Given the description of an element on the screen output the (x, y) to click on. 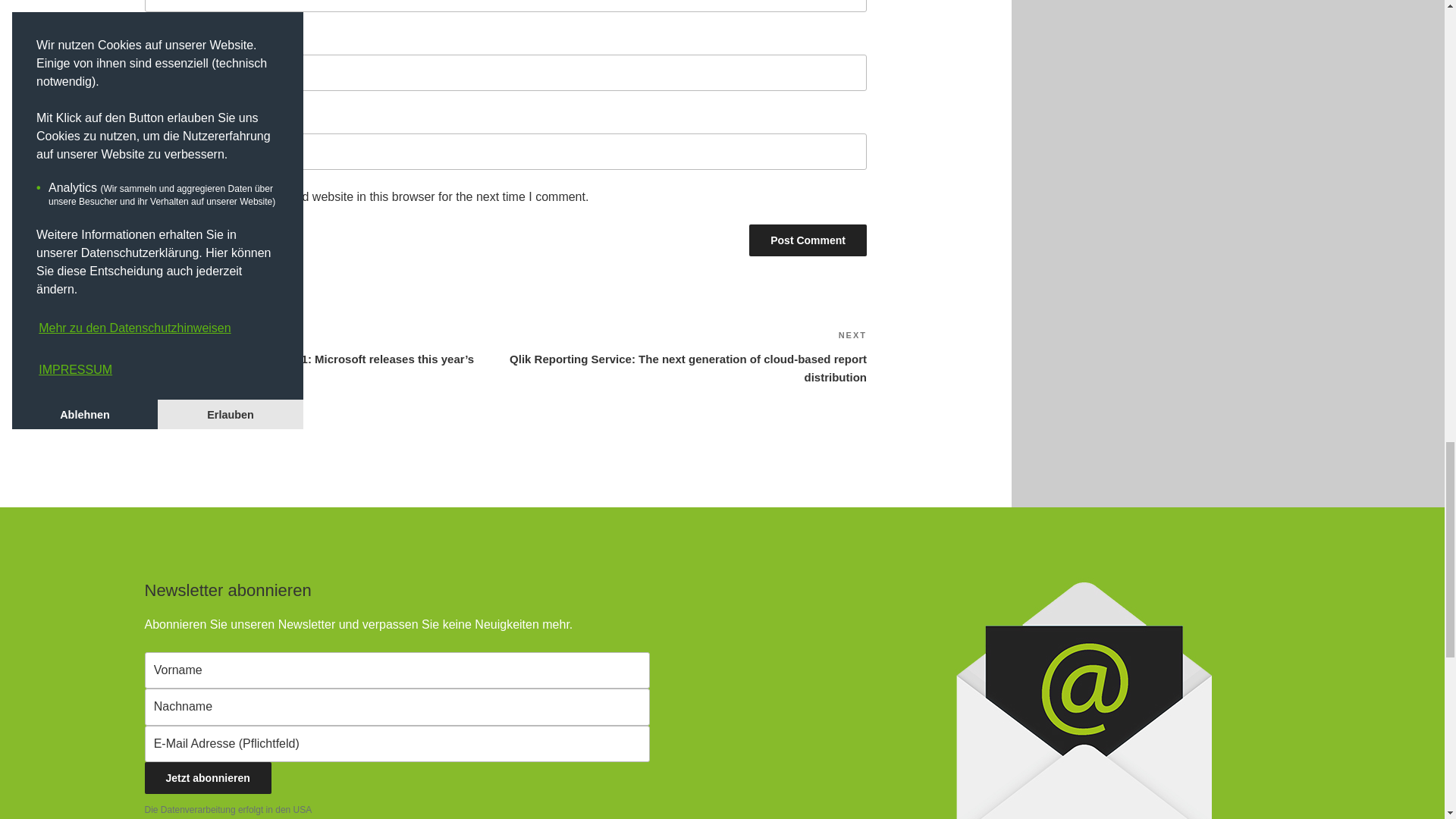
Post Comment (807, 240)
Jetzt abonnieren (207, 777)
yes (149, 195)
Post Comment (807, 240)
